Given the description of an element on the screen output the (x, y) to click on. 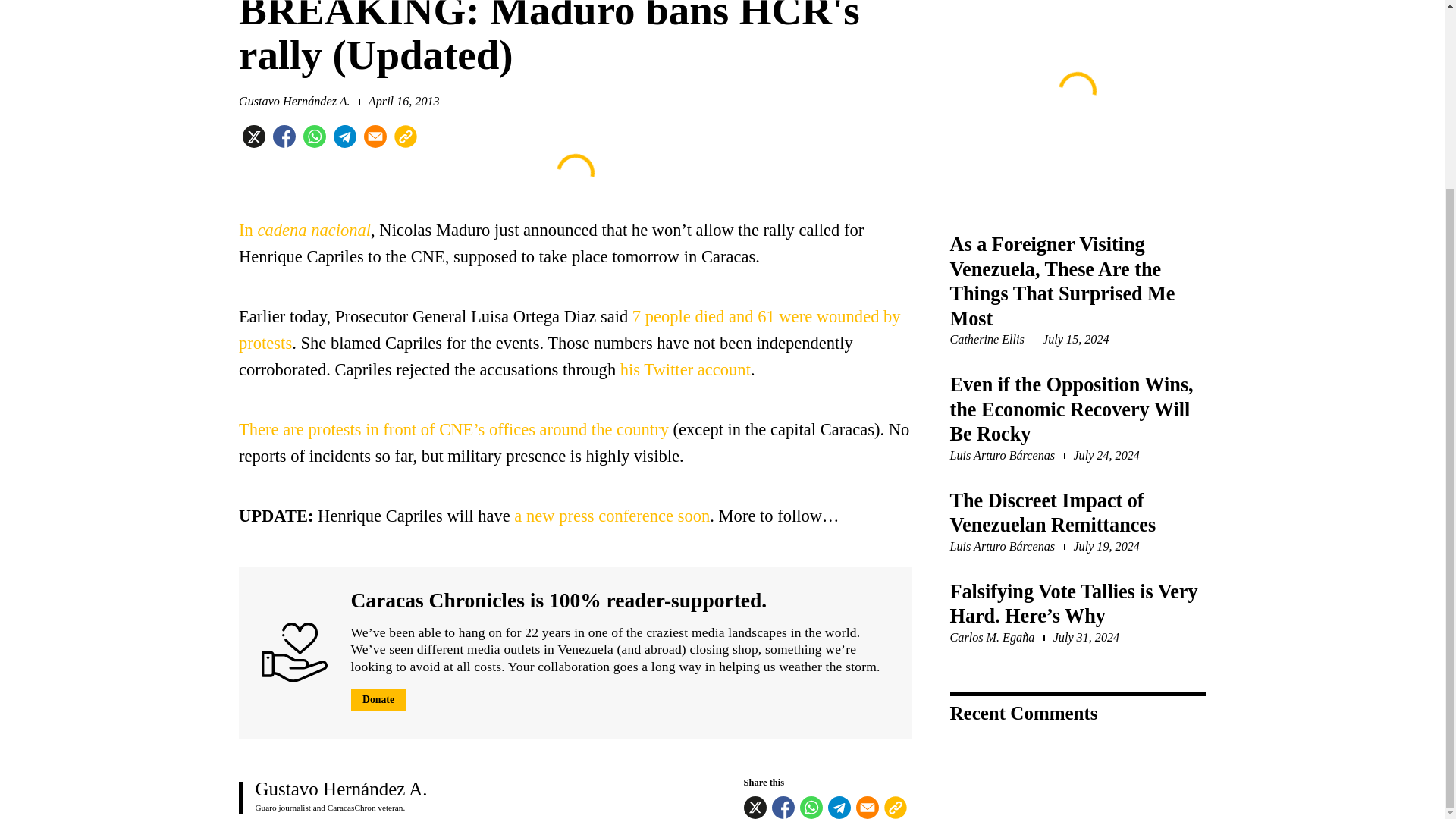
his Twitter account (685, 369)
7 people died and 61 were wounded by protests (569, 329)
a new press conference soon (611, 515)
Donate (378, 699)
In cadena nacional (304, 229)
